Given the description of an element on the screen output the (x, y) to click on. 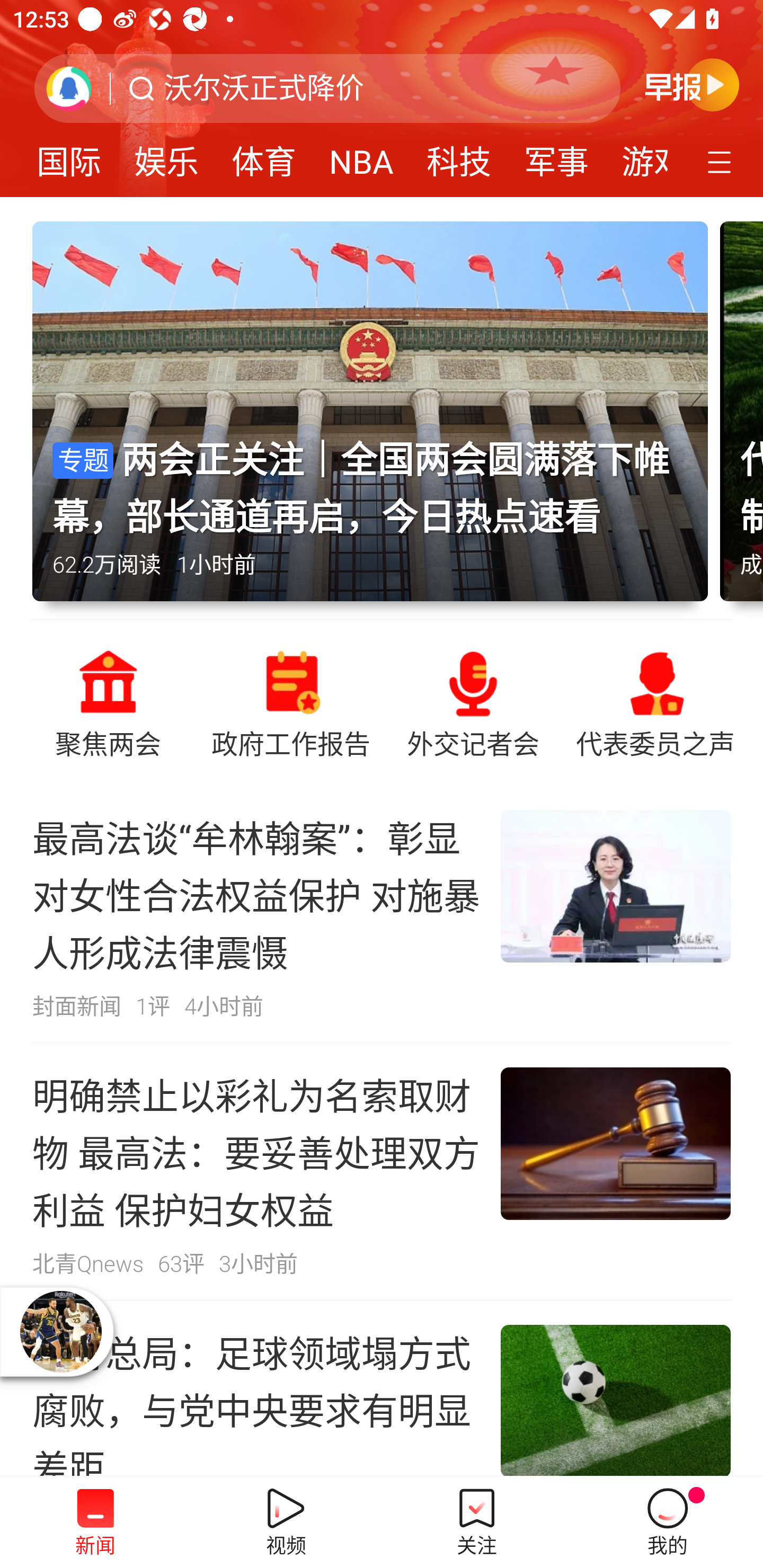
早晚报 (691, 84)
刷新 (68, 88)
沃尔沃正式降价 (263, 88)
国际 (68, 155)
娱乐 (166, 155)
体育 (263, 155)
NBA (361, 155)
科技 (458, 155)
军事 (556, 155)
 定制频道 (721, 160)
专题两会正关注｜全国两会圆满落下帷幕，部长通道再启，今日热点速看 62.2万阅读   1小时前 (376, 420)
聚焦两会 (107, 702)
政府工作报告 (290, 702)
外交记者会 (473, 702)
代表委员之声 (655, 702)
最高法谈“牟林翰案”：彰显对女性合法权益保护 对施暴人形成法律震慑 封面新闻 1评 4小时前 (381, 913)
播放器 (60, 1331)
体育总局：足球领域塌方式腐败，与党中央要求有明显差距 (381, 1388)
